Given the description of an element on the screen output the (x, y) to click on. 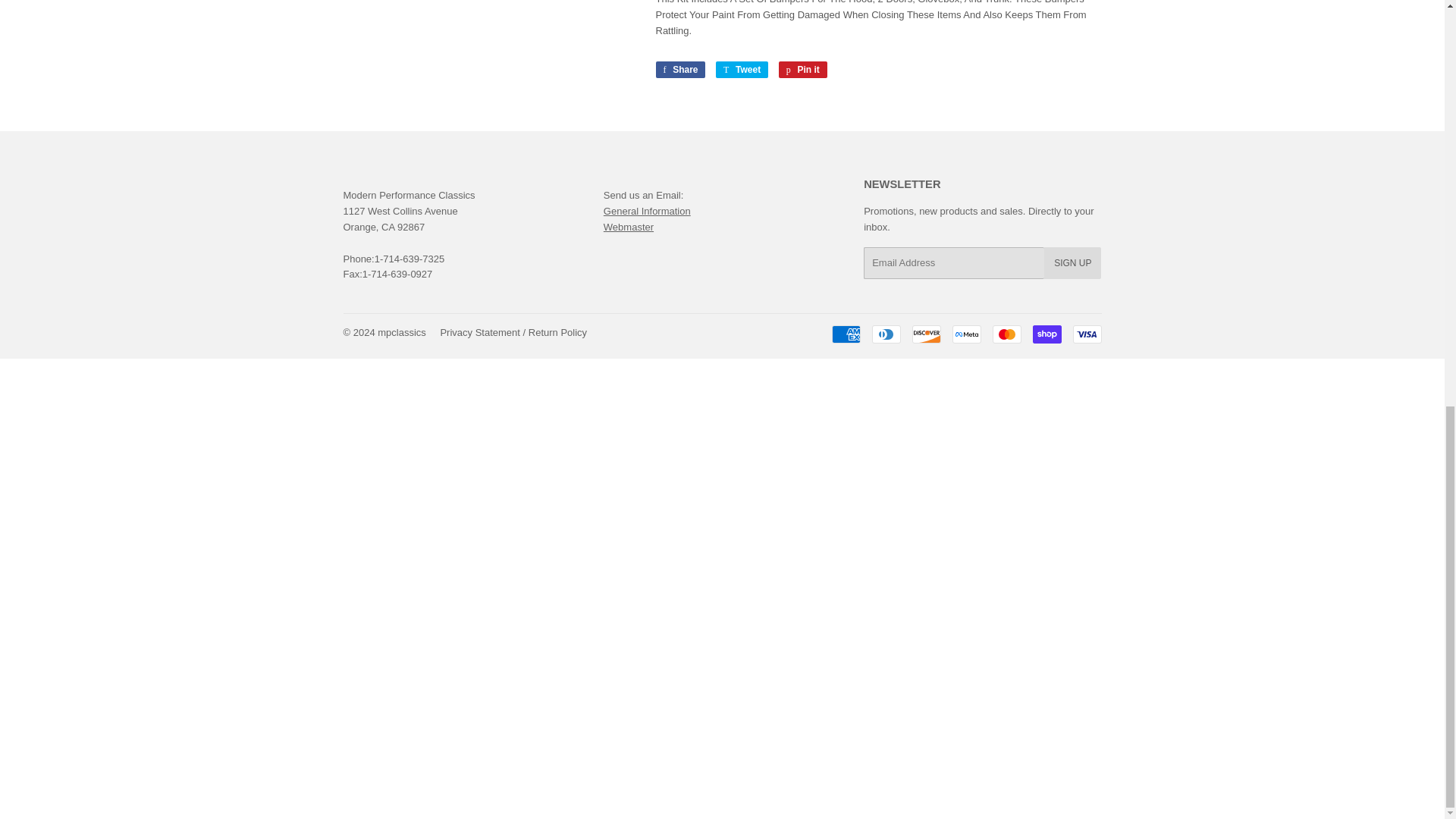
Shop Pay (1046, 334)
American Express (845, 334)
Tweet on Twitter (742, 69)
Contact Us (628, 226)
Meta Pay (966, 334)
Diners Club (886, 334)
Visa (1085, 334)
Mastercard (1005, 334)
Share on Facebook (679, 69)
Pin on Pinterest (802, 69)
